Given the description of an element on the screen output the (x, y) to click on. 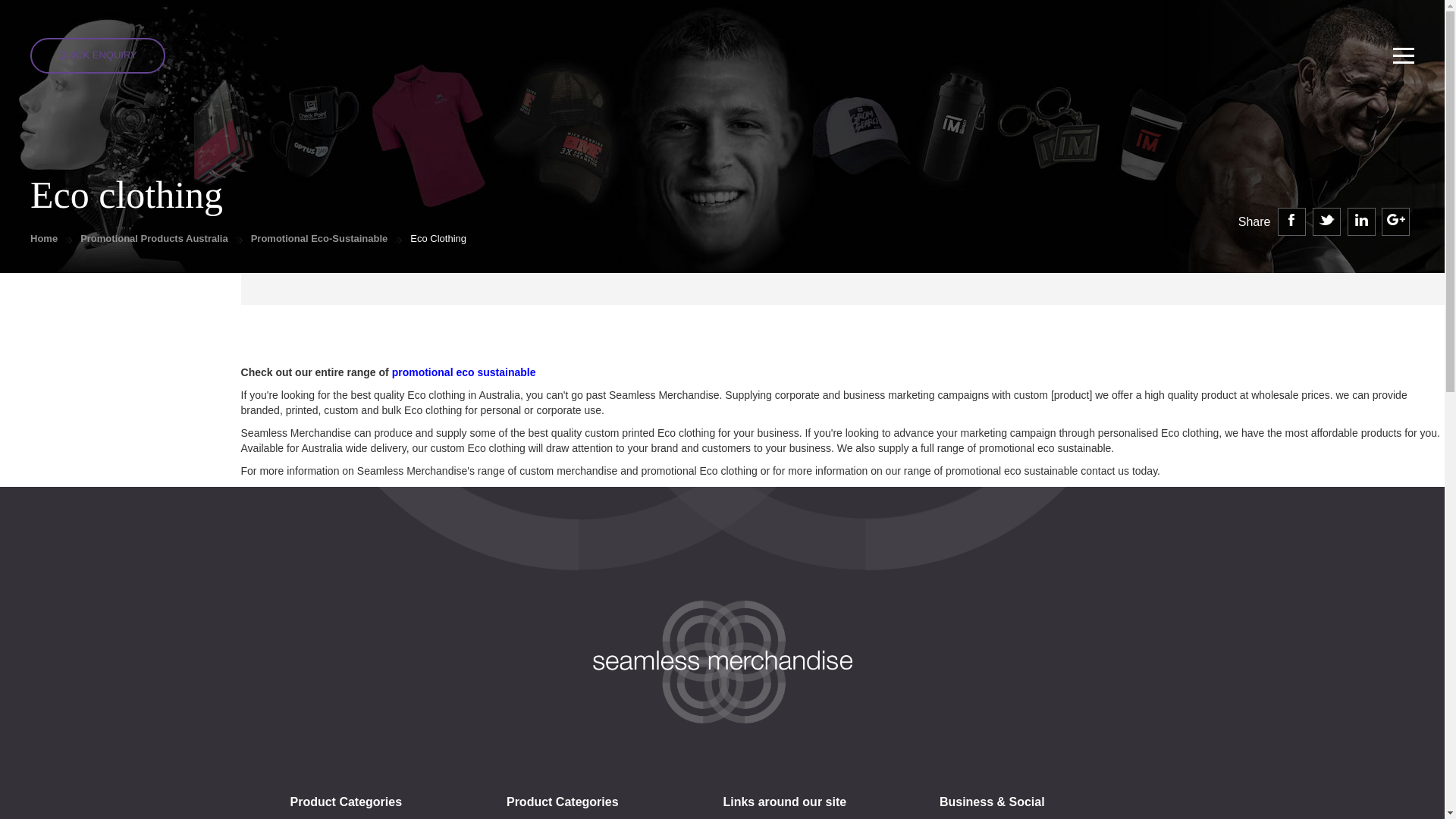
QUICK ENQUIRY (97, 55)
